Given the description of an element on the screen output the (x, y) to click on. 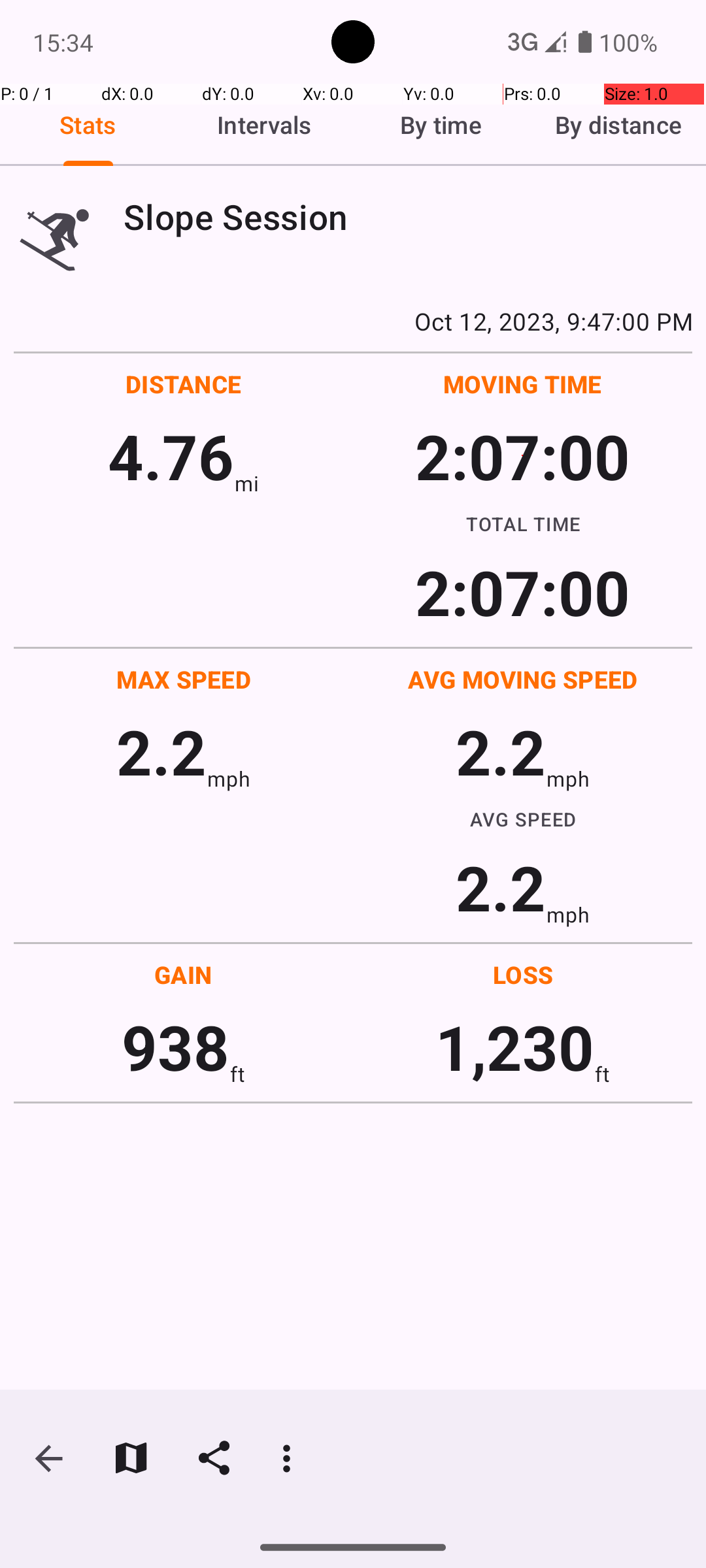
Stats Element type: android.widget.LinearLayout (88, 124)
Intervals Element type: android.widget.LinearLayout (264, 124)
By time Element type: android.widget.LinearLayout (441, 124)
By distance Element type: android.widget.LinearLayout (617, 124)
Show on map Element type: android.widget.Button (130, 1458)
Slope Session Element type: android.widget.TextView (407, 216)
Oct 12, 2023, 9:47:00 PM Element type: android.widget.TextView (352, 320)
DISTANCE Element type: android.widget.TextView (183, 383)
MOVING TIME Element type: android.widget.TextView (522, 383)
4.76 Element type: android.widget.TextView (170, 455)
mi Element type: android.widget.TextView (246, 483)
2:07:00 Element type: android.widget.TextView (522, 455)
TOTAL TIME Element type: android.widget.TextView (522, 523)
MAX SPEED Element type: android.widget.TextView (183, 678)
AVG MOVING SPEED Element type: android.widget.TextView (522, 678)
2.2 Element type: android.widget.TextView (161, 750)
mph Element type: android.widget.TextView (228, 778)
AVG SPEED Element type: android.widget.TextView (522, 818)
GAIN Element type: android.widget.TextView (183, 974)
LOSS Element type: android.widget.TextView (522, 974)
938 Element type: android.widget.TextView (175, 1045)
ft Element type: android.widget.TextView (237, 1073)
1,230 Element type: android.widget.TextView (514, 1045)
